Given the description of an element on the screen output the (x, y) to click on. 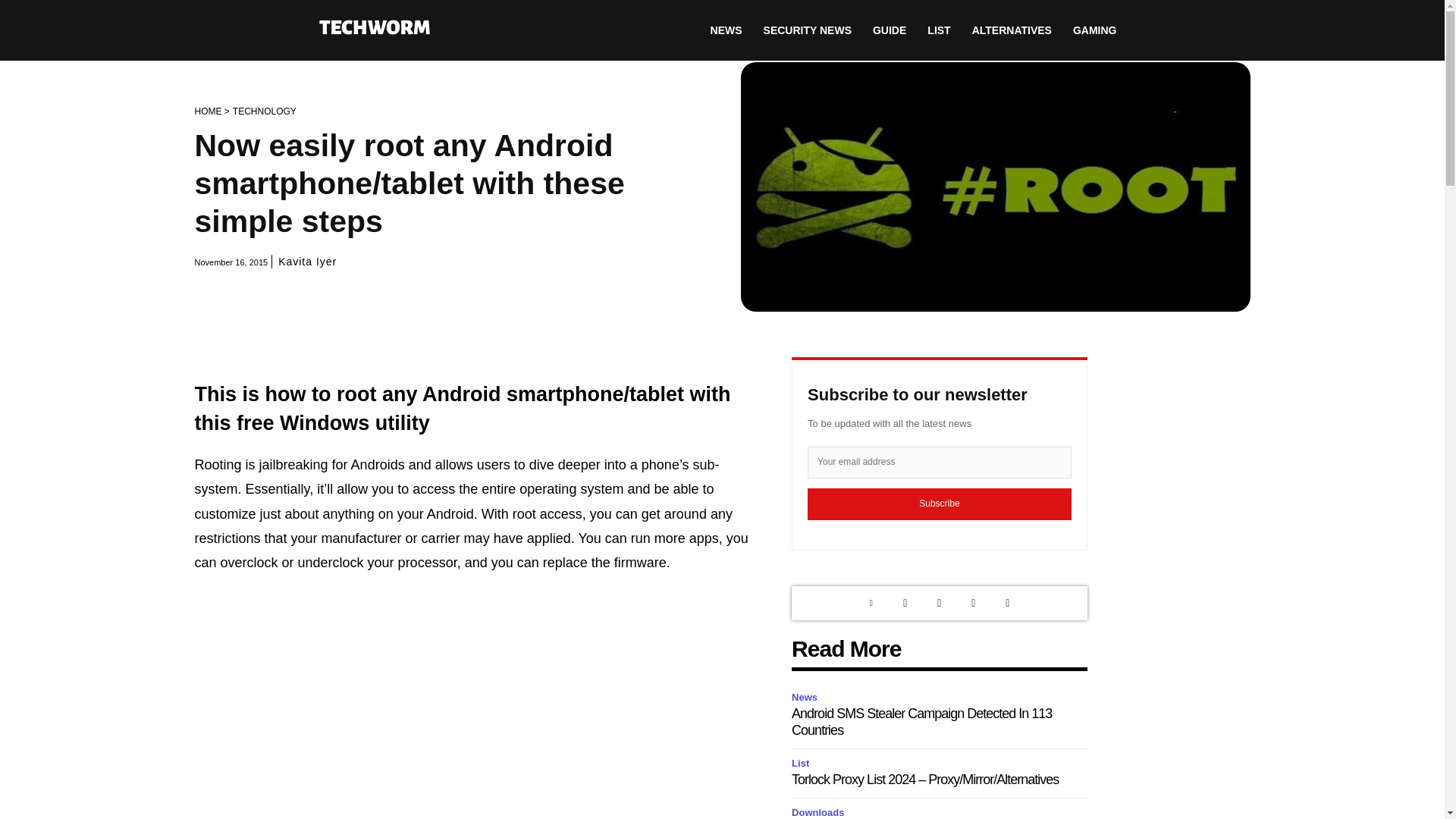
Facebook (973, 602)
Twitter (904, 602)
Kavita Iyer (307, 261)
GAMING (1094, 30)
Linkedin (870, 602)
GUIDE (889, 30)
TECHNOLOGY (264, 111)
Subscribe (939, 504)
SECURITY NEWS (806, 30)
Instagram (939, 602)
